Given the description of an element on the screen output the (x, y) to click on. 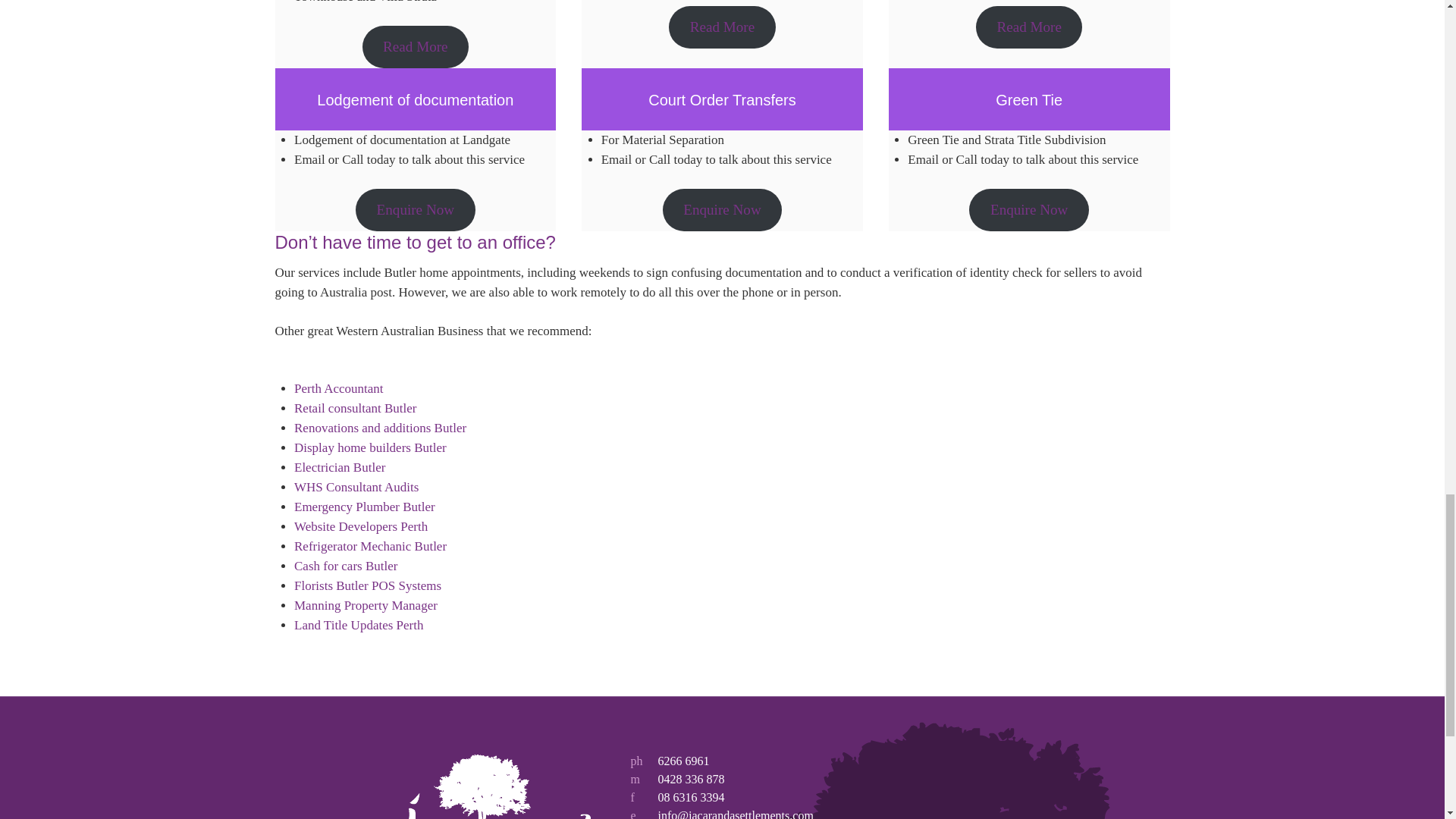
Enquire Now (721, 209)
Read More (1028, 26)
Enquire Now (1028, 209)
Display home builders Butler (370, 447)
Retail consultant Butler (355, 408)
Perth Accountant (339, 388)
Enquire Now (414, 209)
Electrician Butler (339, 467)
Manning Property Manager (366, 605)
Florists Butler POS Systems (367, 585)
Website Developers Perth (361, 526)
Emergency Plumber Butler (364, 506)
Cash for cars Butler (345, 565)
WHS Consultant Audits (356, 486)
Land Title Updates Perth (358, 625)
